Given the description of an element on the screen output the (x, y) to click on. 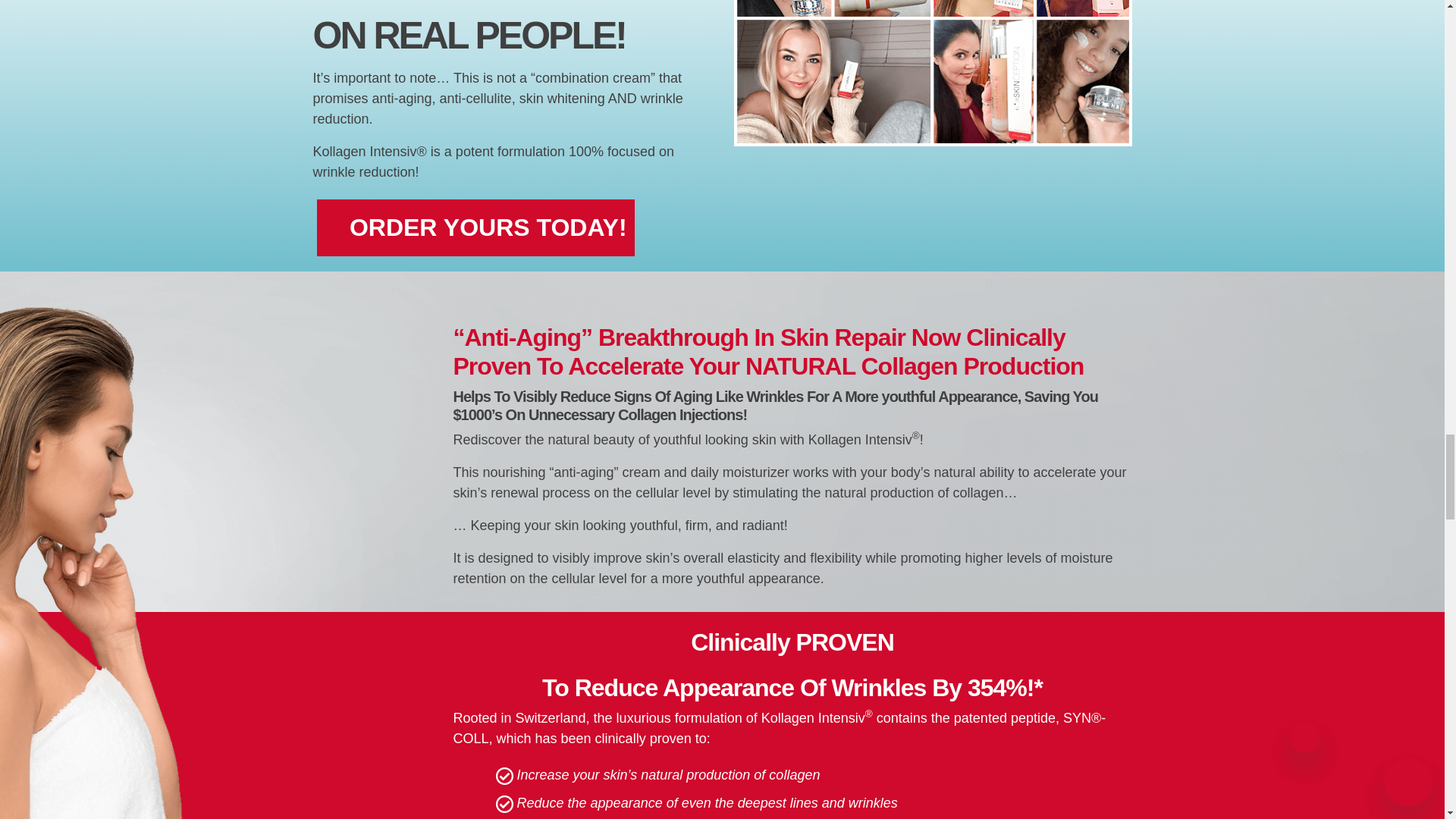
ORDER YOURS TODAY! (475, 227)
